Given the description of an element on the screen output the (x, y) to click on. 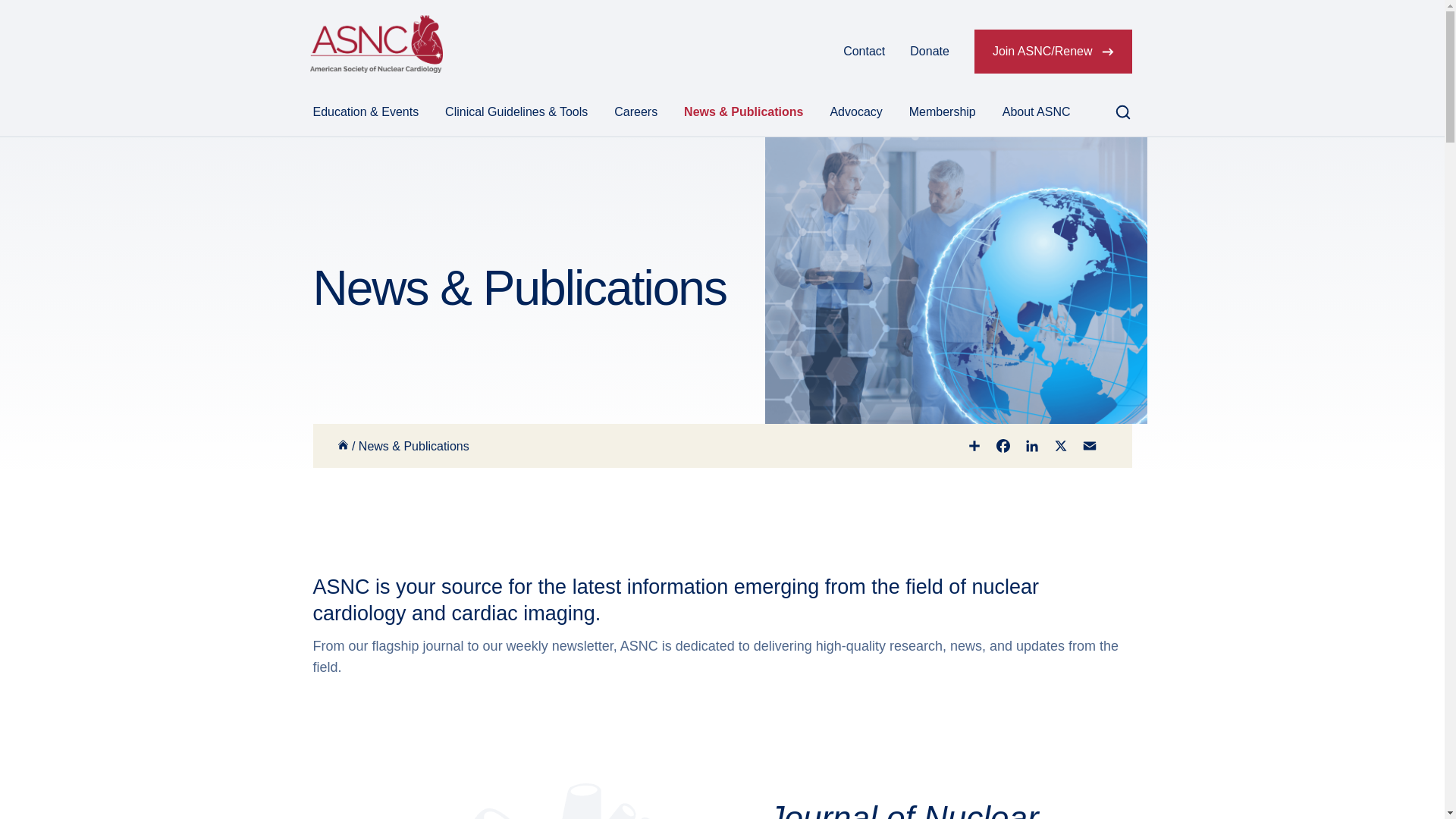
Log In (801, 51)
Donate (929, 51)
heart (509, 800)
Contact (863, 51)
